Given the description of an element on the screen output the (x, y) to click on. 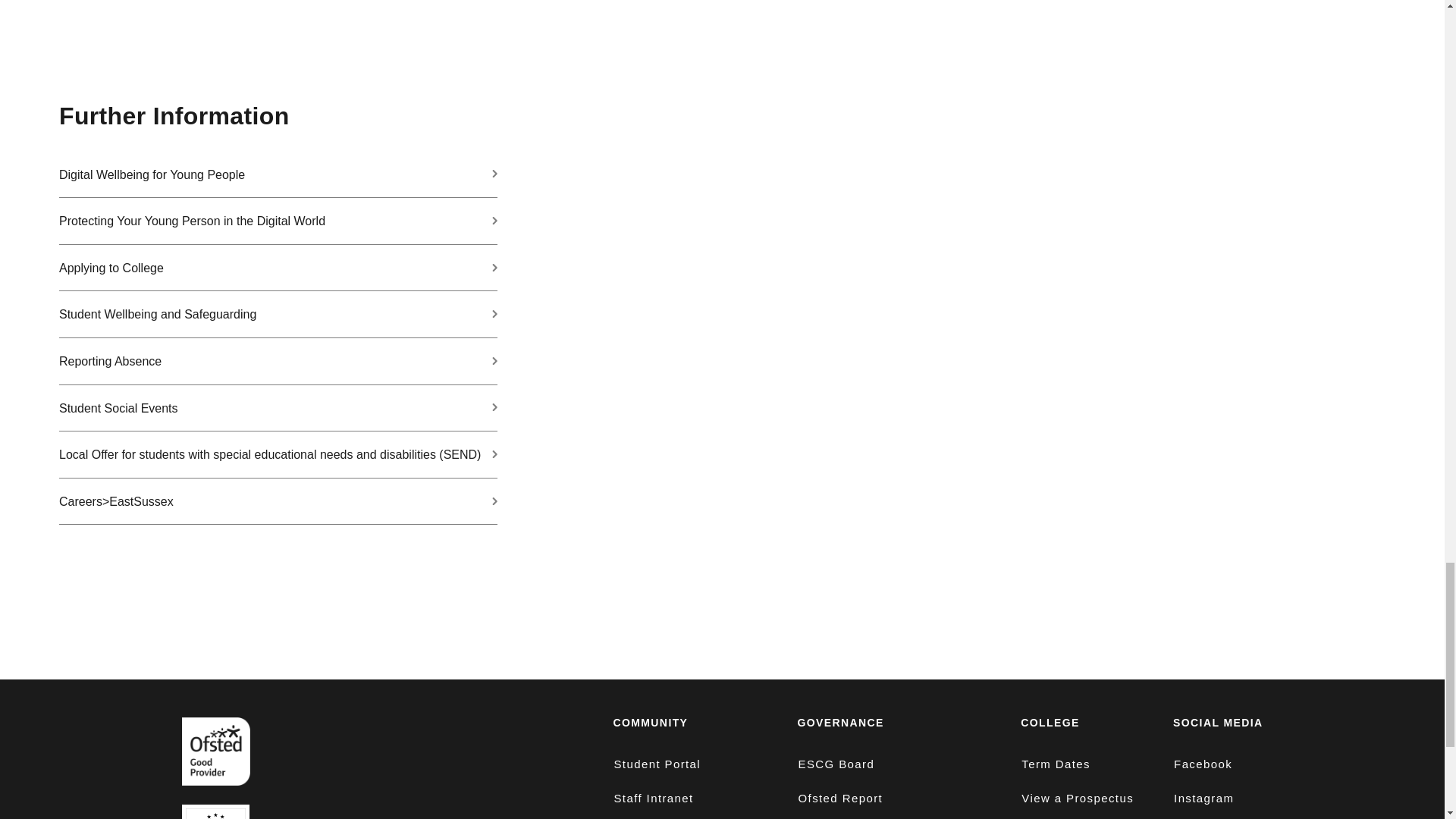
Student Wellbeing and Safeguarding (278, 314)
Protecting Your Young Person in the Digital World (278, 221)
Staff Intranet (652, 797)
Reporting Absence (278, 361)
Student Social Events (278, 408)
ESCG Board (836, 763)
Applying to College (278, 267)
Humans of ESC (660, 816)
Digital Wellbeing for Young People (278, 175)
Ofsted Report (840, 797)
Student Portal (656, 763)
Strategic Plan (841, 816)
